Given the description of an element on the screen output the (x, y) to click on. 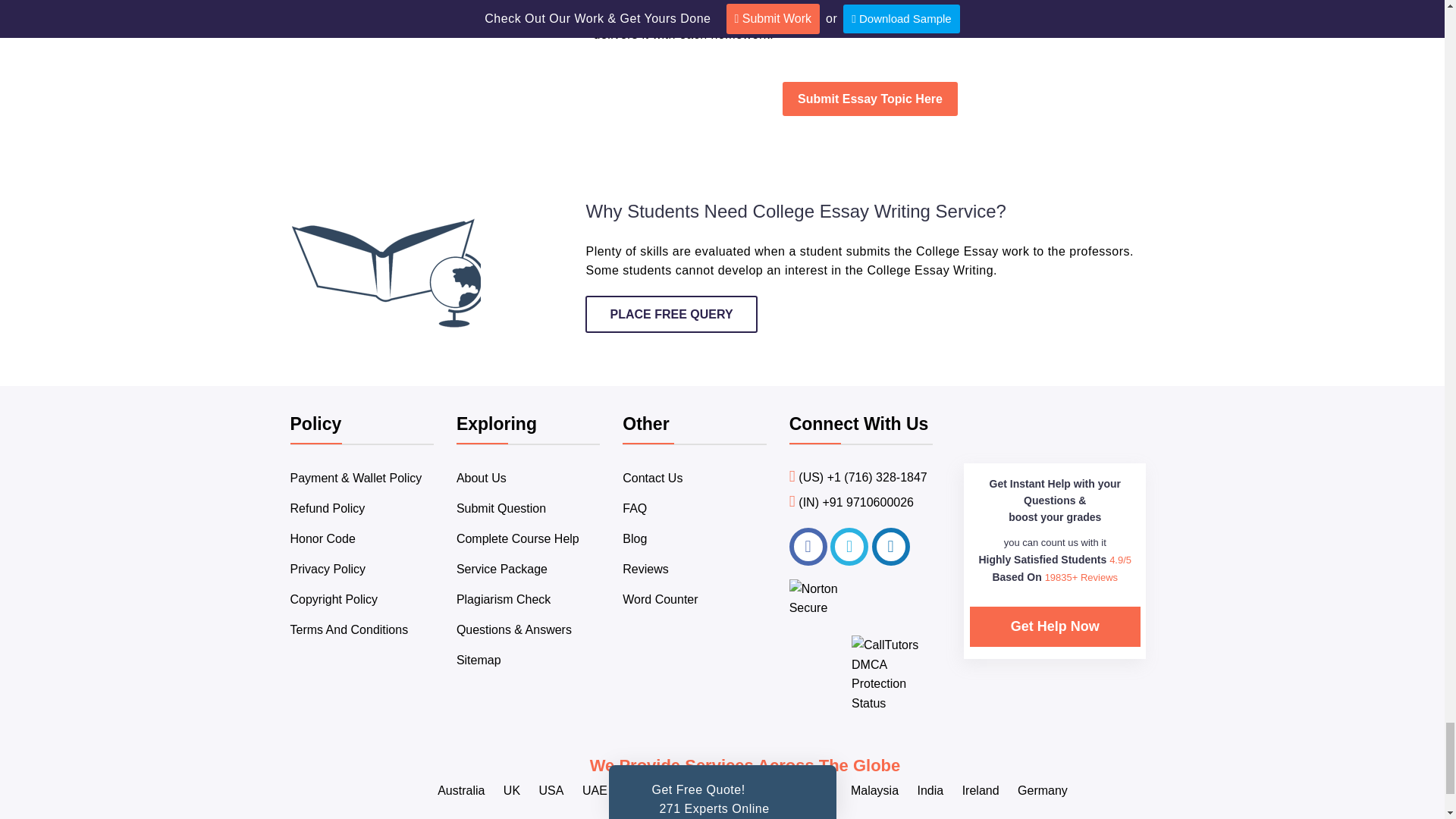
Linked In (891, 546)
CallTutors DMCA.com Protection Status (892, 703)
Submit Assignment Here (870, 99)
Facebook (808, 546)
Twitter (848, 546)
